Given the description of an element on the screen output the (x, y) to click on. 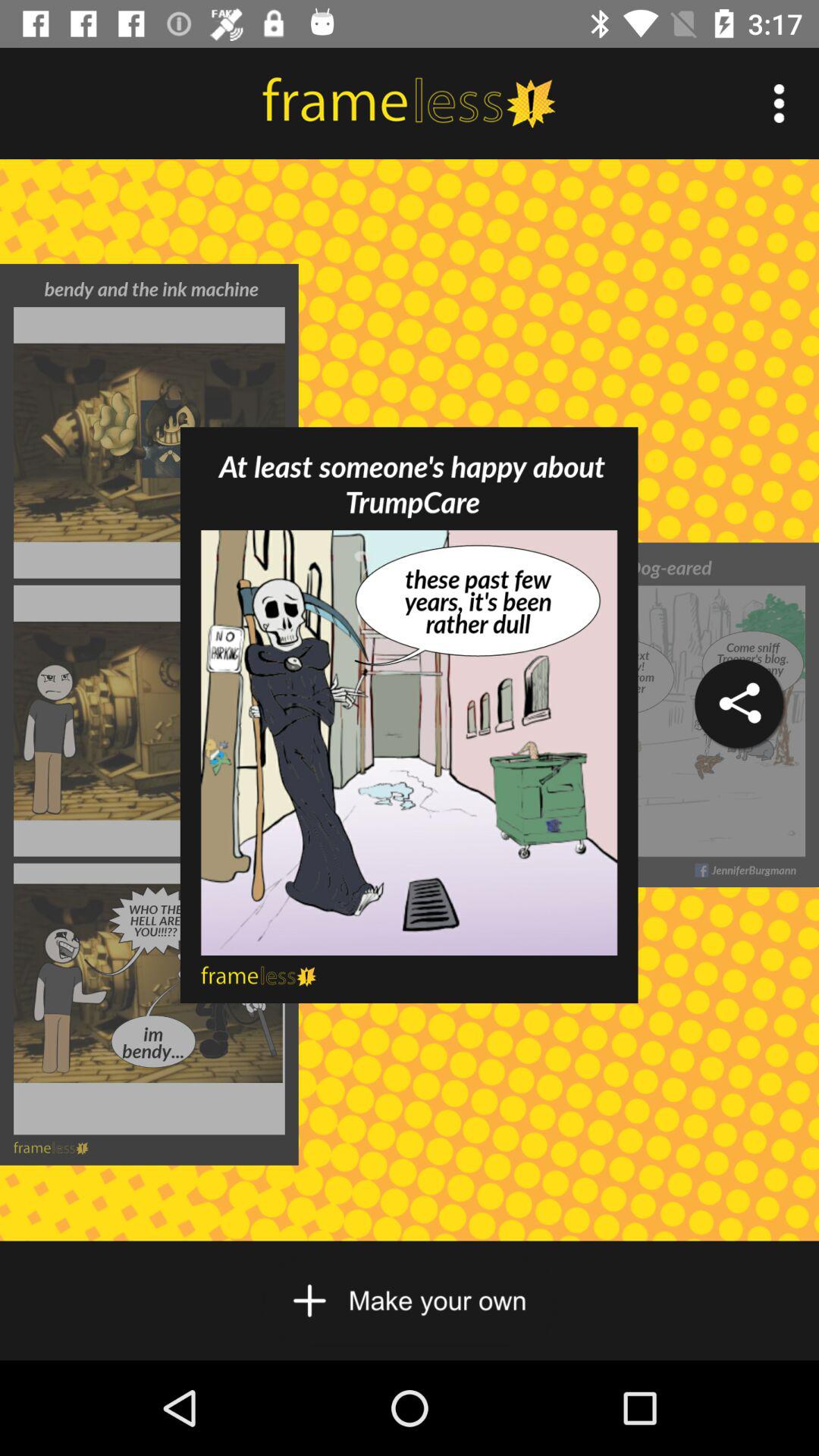
create new frame (409, 1300)
